Given the description of an element on the screen output the (x, y) to click on. 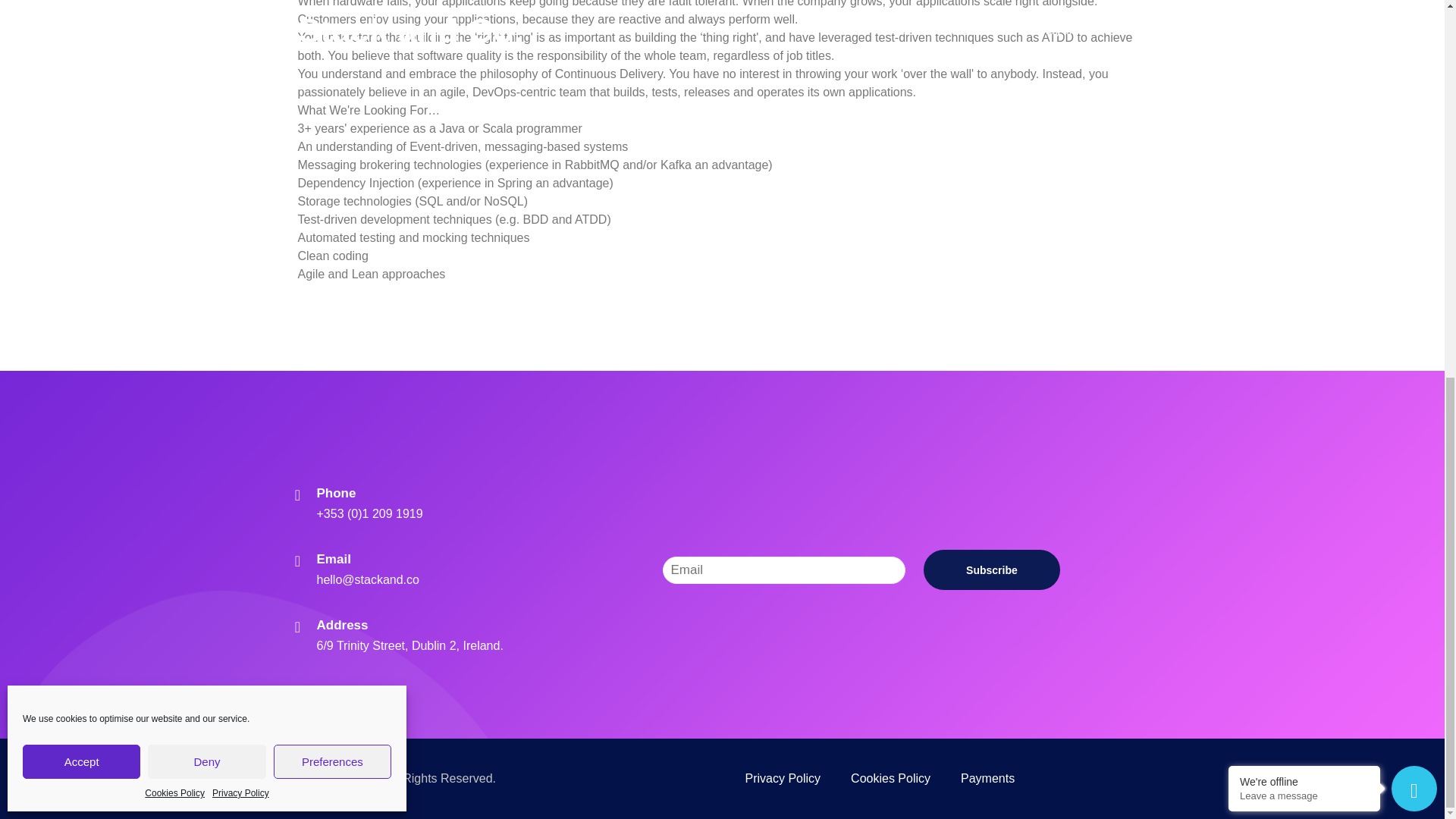
Cookies Policy (174, 94)
Accept (81, 62)
Preferences (332, 62)
Subscribe (991, 569)
Leave a message (1304, 97)
We're offline (1304, 82)
Privacy Policy (240, 94)
Deny (206, 62)
